Given the description of an element on the screen output the (x, y) to click on. 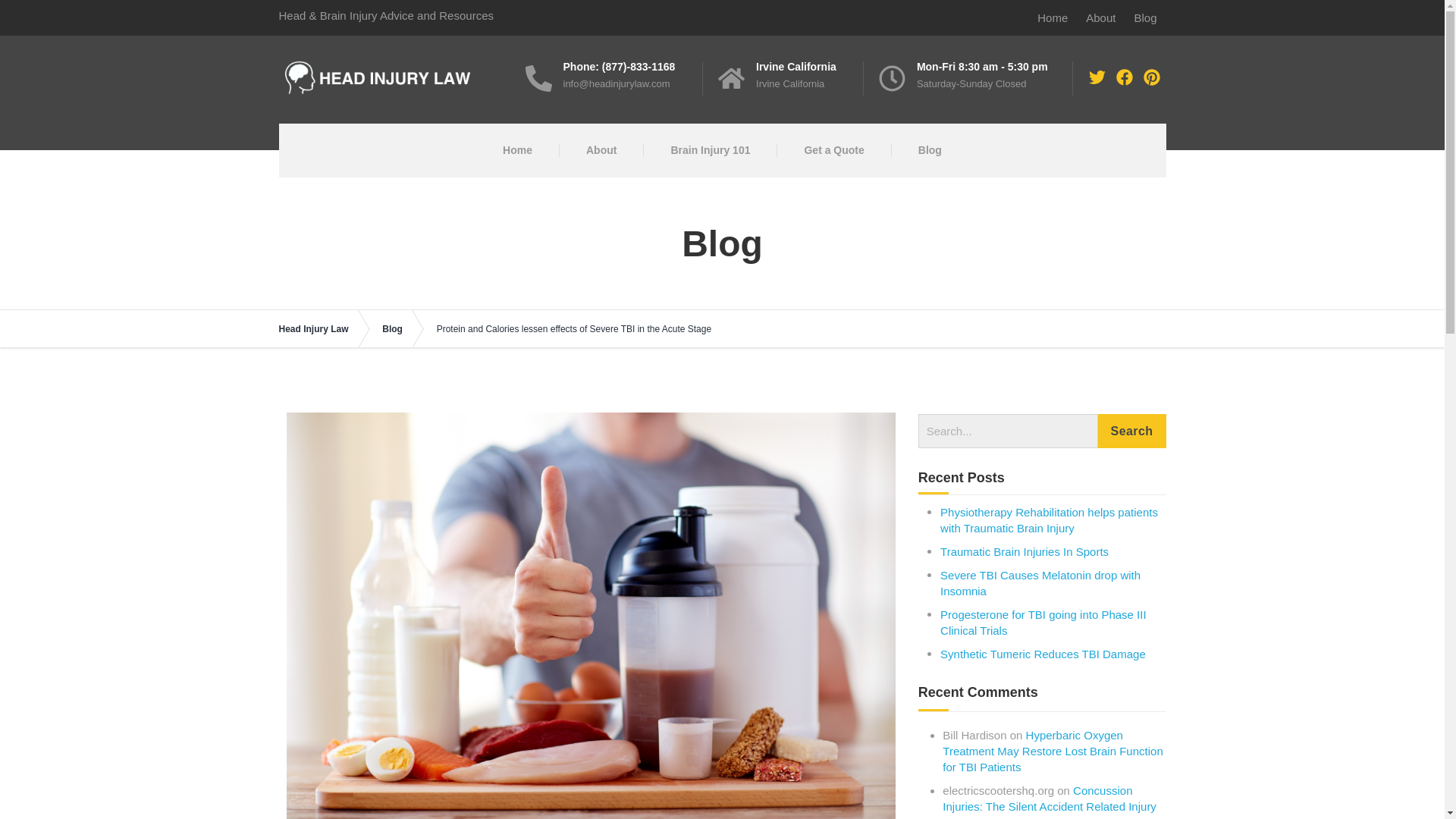
Get a Quote (833, 150)
Blog (929, 150)
Home (1052, 16)
Blog (1145, 16)
About (601, 150)
Home (517, 150)
About (1100, 16)
Brain Injury 101 (709, 150)
